Given the description of an element on the screen output the (x, y) to click on. 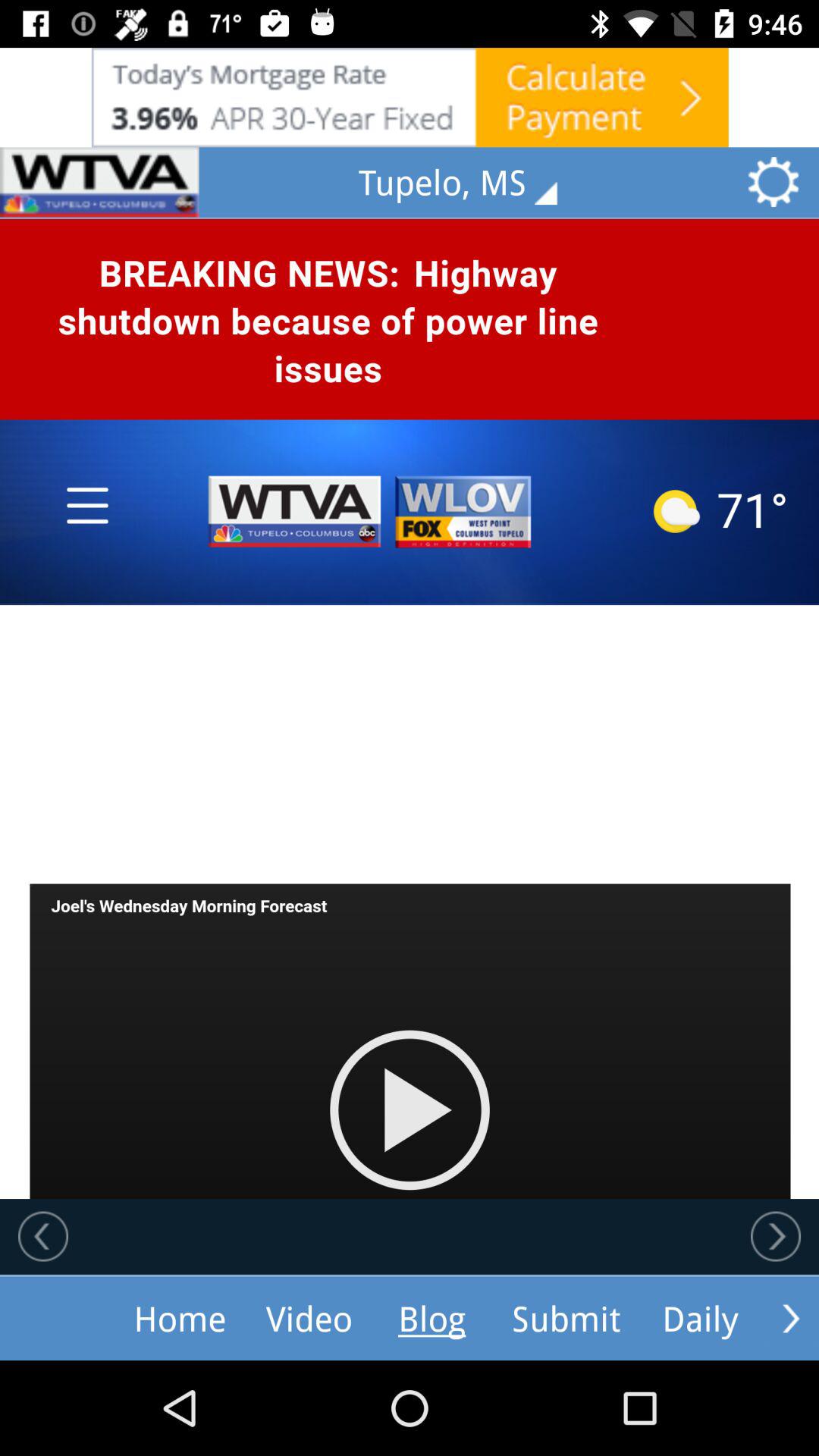
show outside advertisement (409, 97)
